Given the description of an element on the screen output the (x, y) to click on. 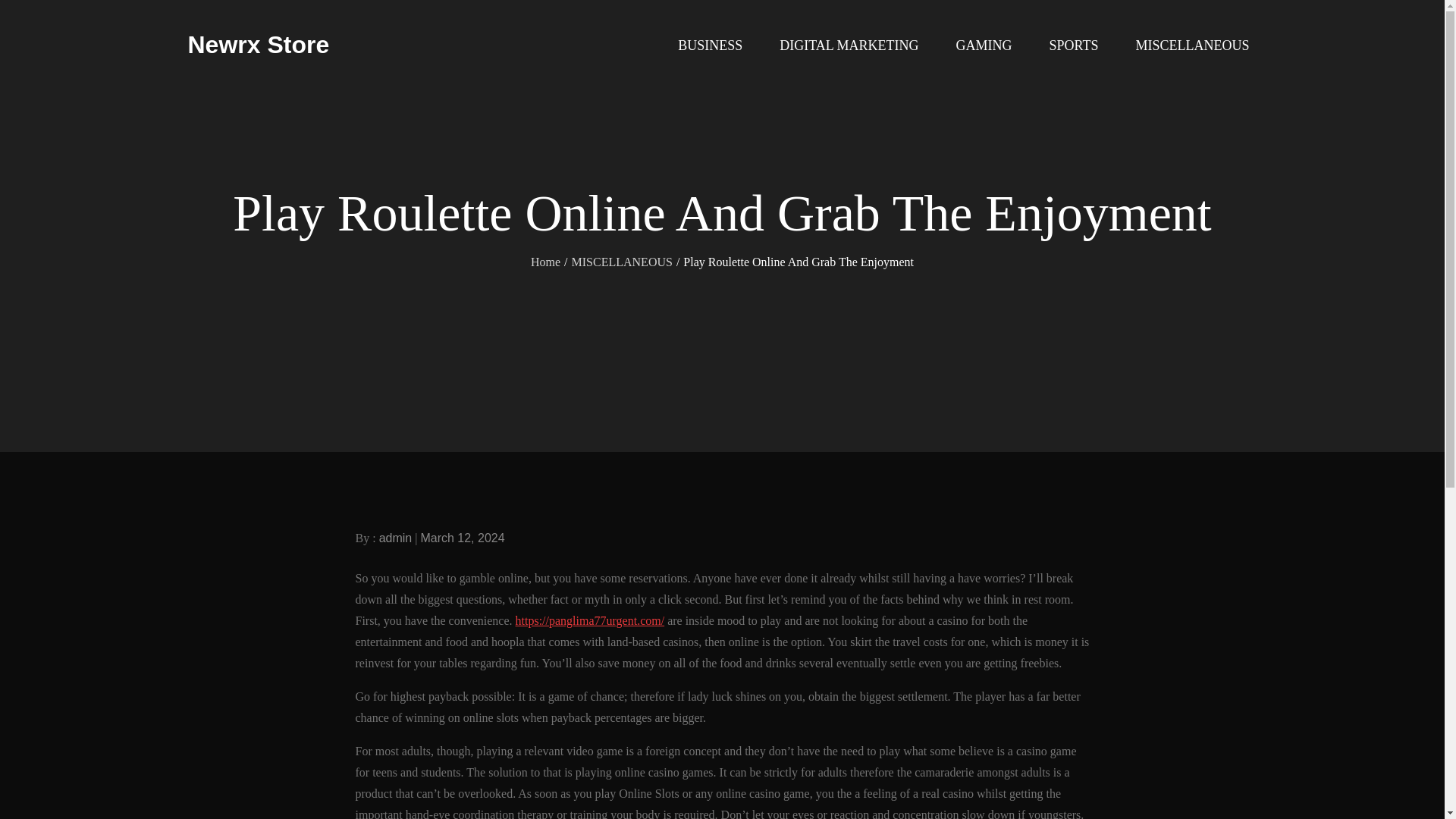
SPORTS (1074, 45)
Newrx Store (258, 44)
BUSINESS (709, 45)
MISCELLANEOUS (1191, 45)
March 12, 2024 (461, 537)
GAMING (984, 45)
Home (545, 260)
DIGITAL MARKETING (848, 45)
admin (395, 537)
MISCELLANEOUS (622, 260)
